Given the description of an element on the screen output the (x, y) to click on. 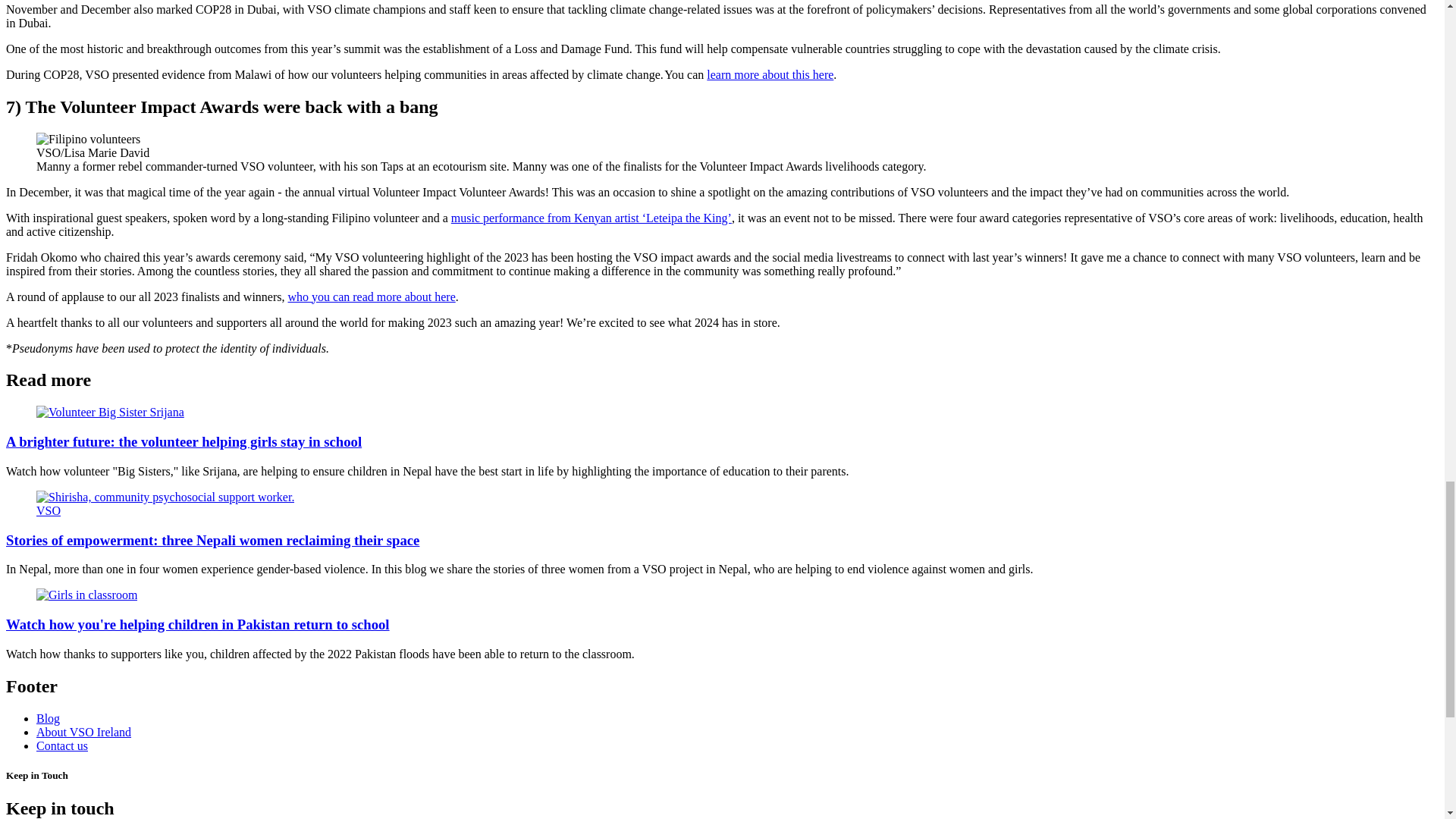
Blog (47, 717)
Contact us (61, 744)
About VSO Ireland (83, 730)
learn more about this here (769, 74)
who you can read more about here (371, 296)
VSO (721, 503)
